Given the description of an element on the screen output the (x, y) to click on. 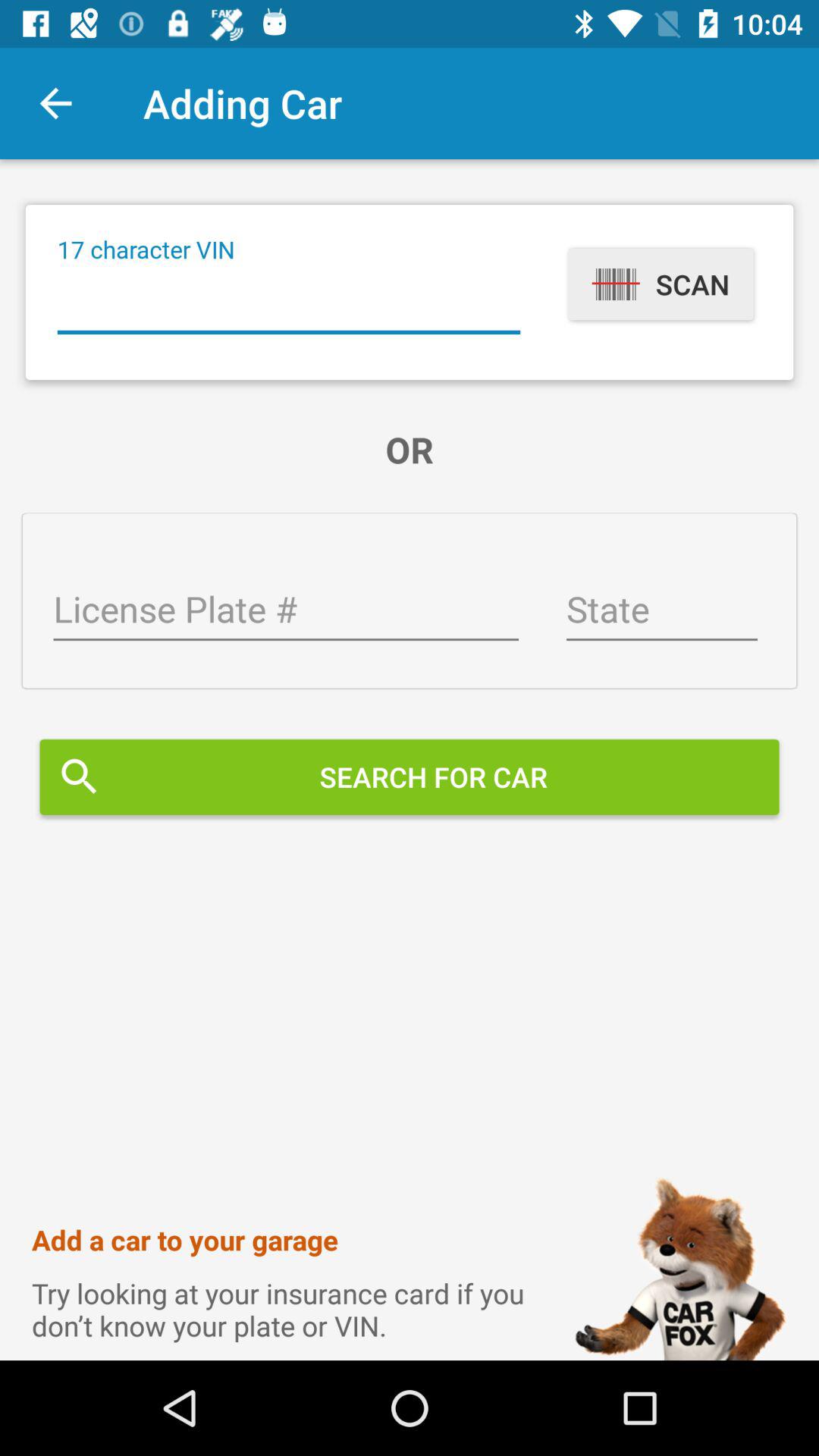
enter state (661, 611)
